Given the description of an element on the screen output the (x, y) to click on. 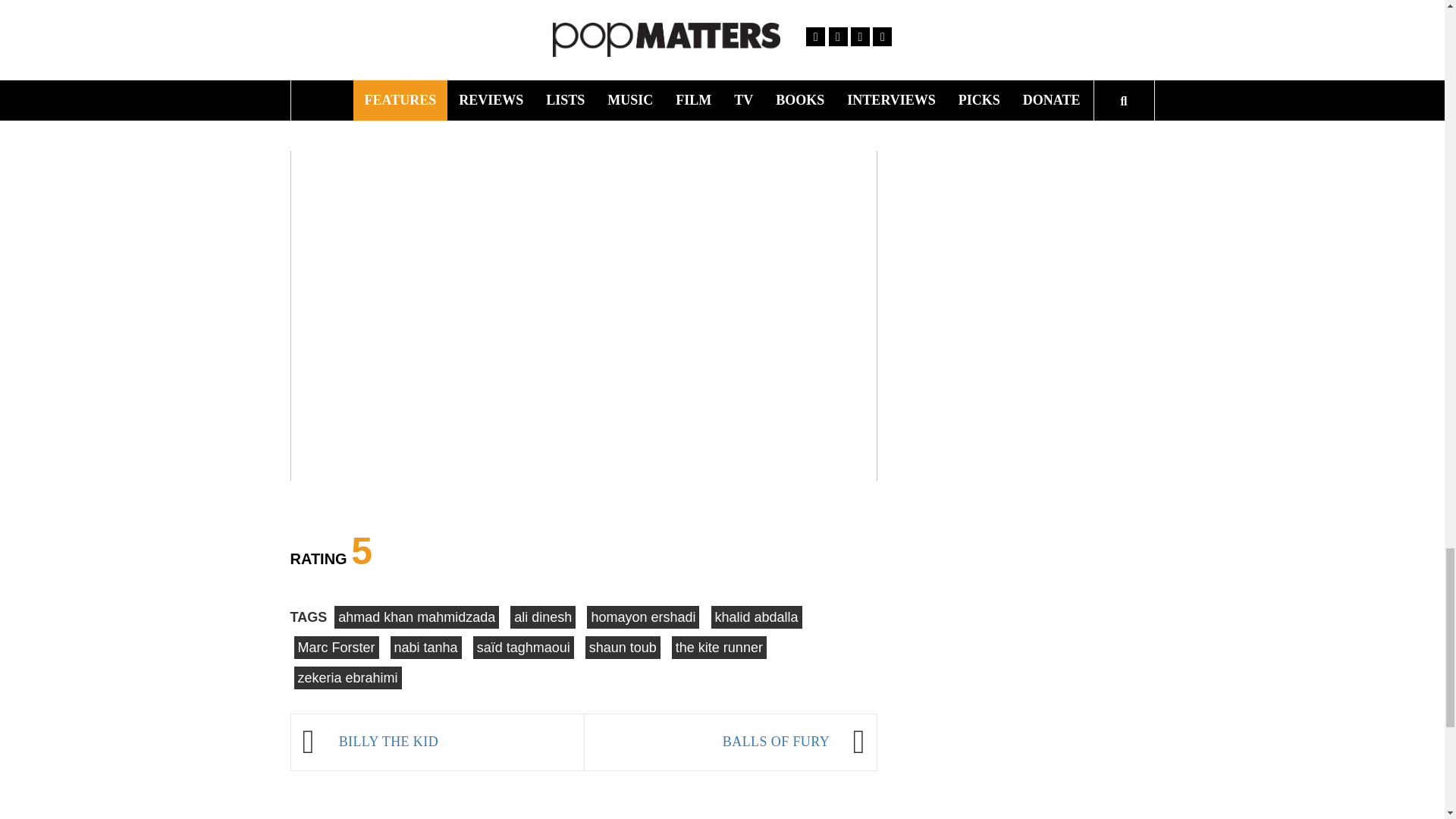
ahmad khan mahmidzada (416, 617)
ali dinesh (543, 617)
BILLY THE KID (453, 742)
khalid abdalla (756, 617)
the kite runner (719, 647)
shaun toub (623, 647)
nabi tanha (425, 647)
homayon ershadi (642, 617)
Marc Forster (336, 647)
zekeria ebrahimi (347, 677)
BALLS OF FURY (713, 742)
